Given the description of an element on the screen output the (x, y) to click on. 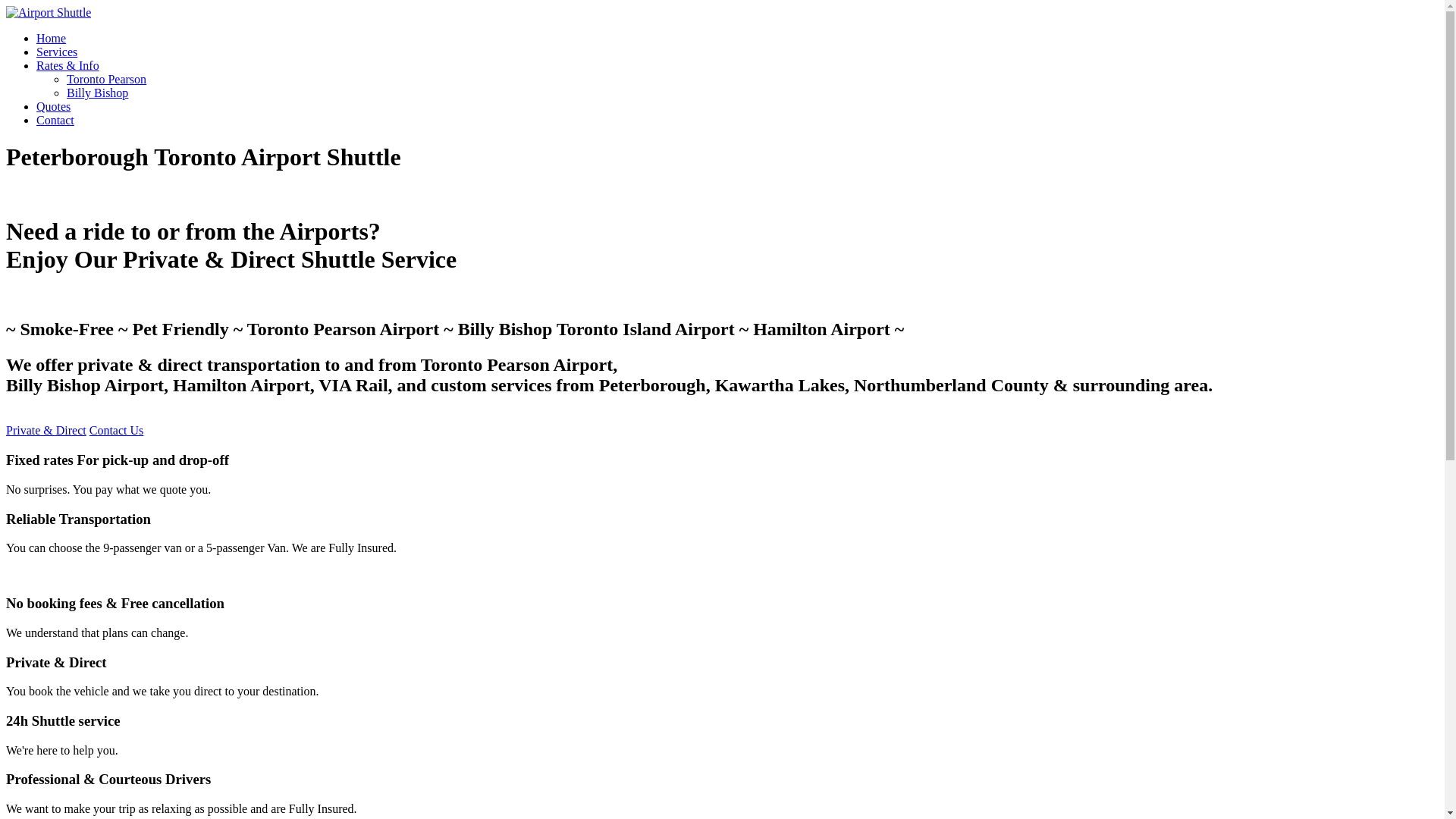
Quotes Element type: text (53, 106)
Services Element type: text (56, 51)
Billy Bishop Element type: text (97, 92)
Private & Direct Element type: text (46, 429)
Toronto Pearson Element type: text (106, 78)
Contact Element type: text (55, 119)
Contact Us Element type: text (116, 429)
Rates & Info Element type: text (67, 65)
Benson Airport Shuttle Element type: hover (48, 12)
Home Element type: text (50, 37)
